Given the description of an element on the screen output the (x, y) to click on. 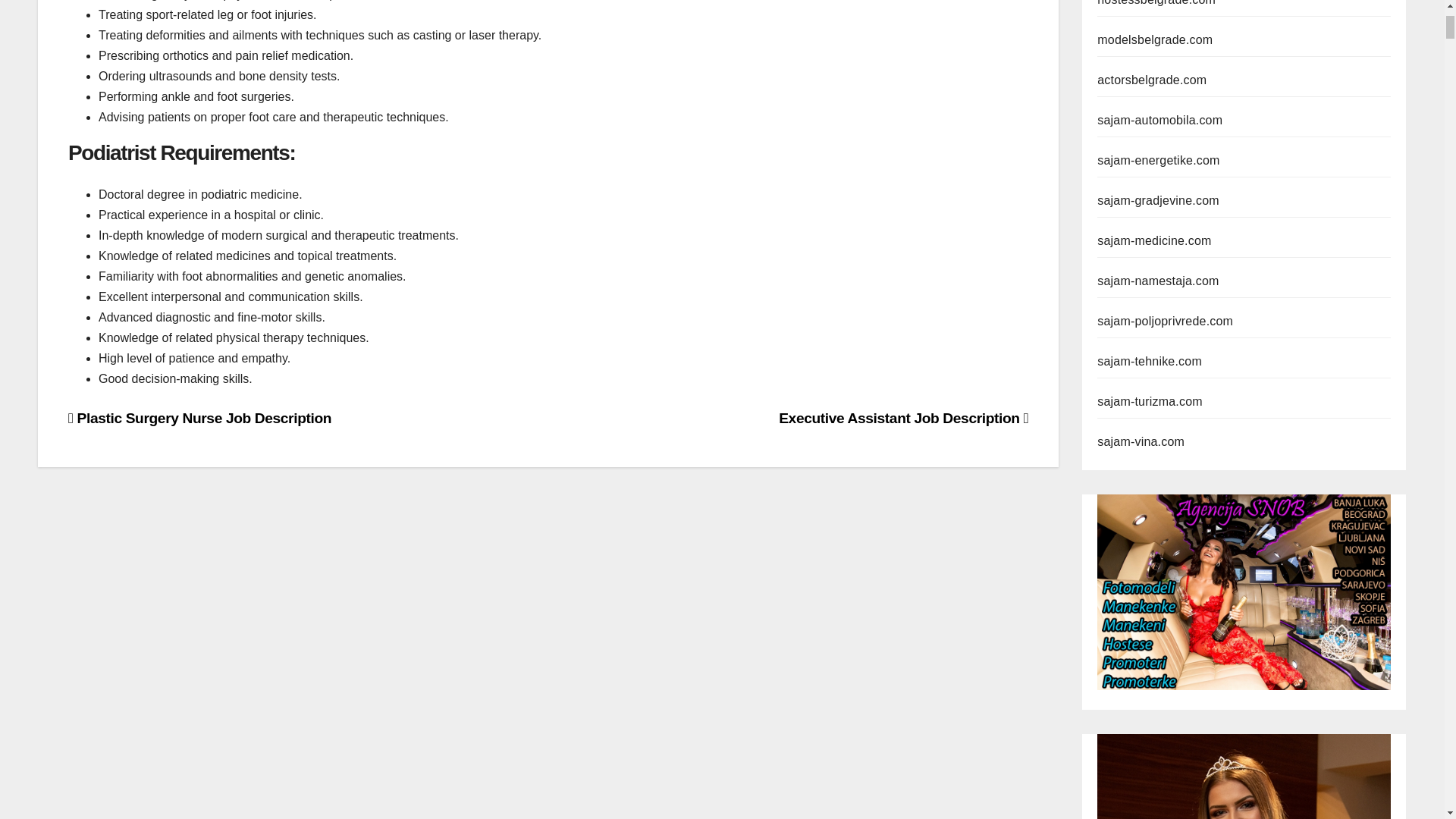
actorsbelgrade.com (1152, 79)
sajam-energetike.com (1158, 160)
modelsbelgrade.com (1154, 39)
Plastic Surgery Nurse Job Description (199, 417)
Executive Assistant Job Description (902, 417)
hostessbelgrade.com (1156, 2)
sajam-automobila.com (1160, 119)
sajam-gradjevine.com (1158, 200)
